Given the description of an element on the screen output the (x, y) to click on. 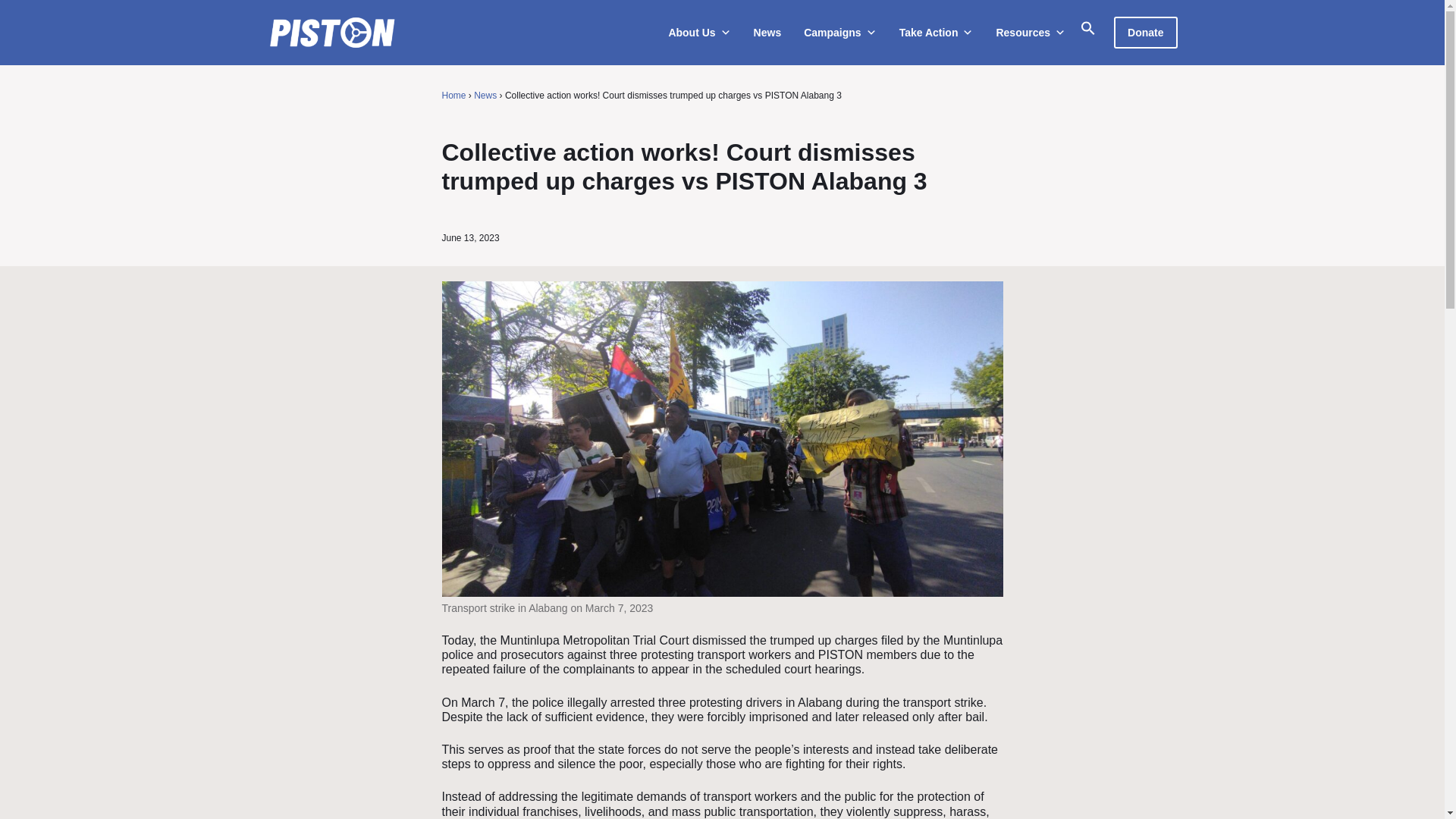
Campaigns (836, 32)
News (763, 32)
Resources (1026, 32)
Take Action (932, 32)
About Us (695, 32)
News (485, 95)
Donate (1144, 32)
Home (453, 95)
News (485, 95)
Home (453, 95)
